Given the description of an element on the screen output the (x, y) to click on. 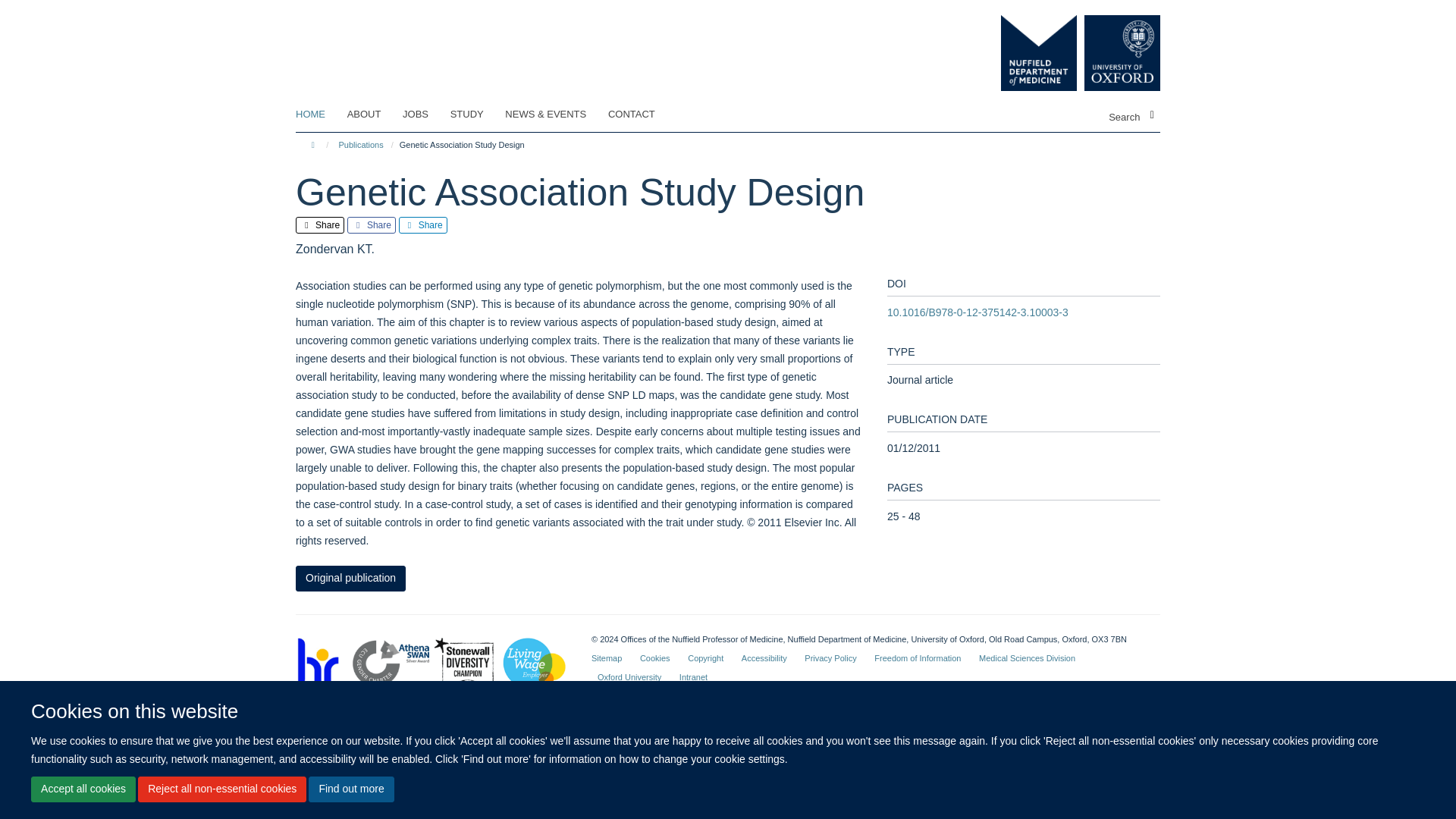
HOME (319, 114)
ABOUT (373, 114)
